Given the description of an element on the screen output the (x, y) to click on. 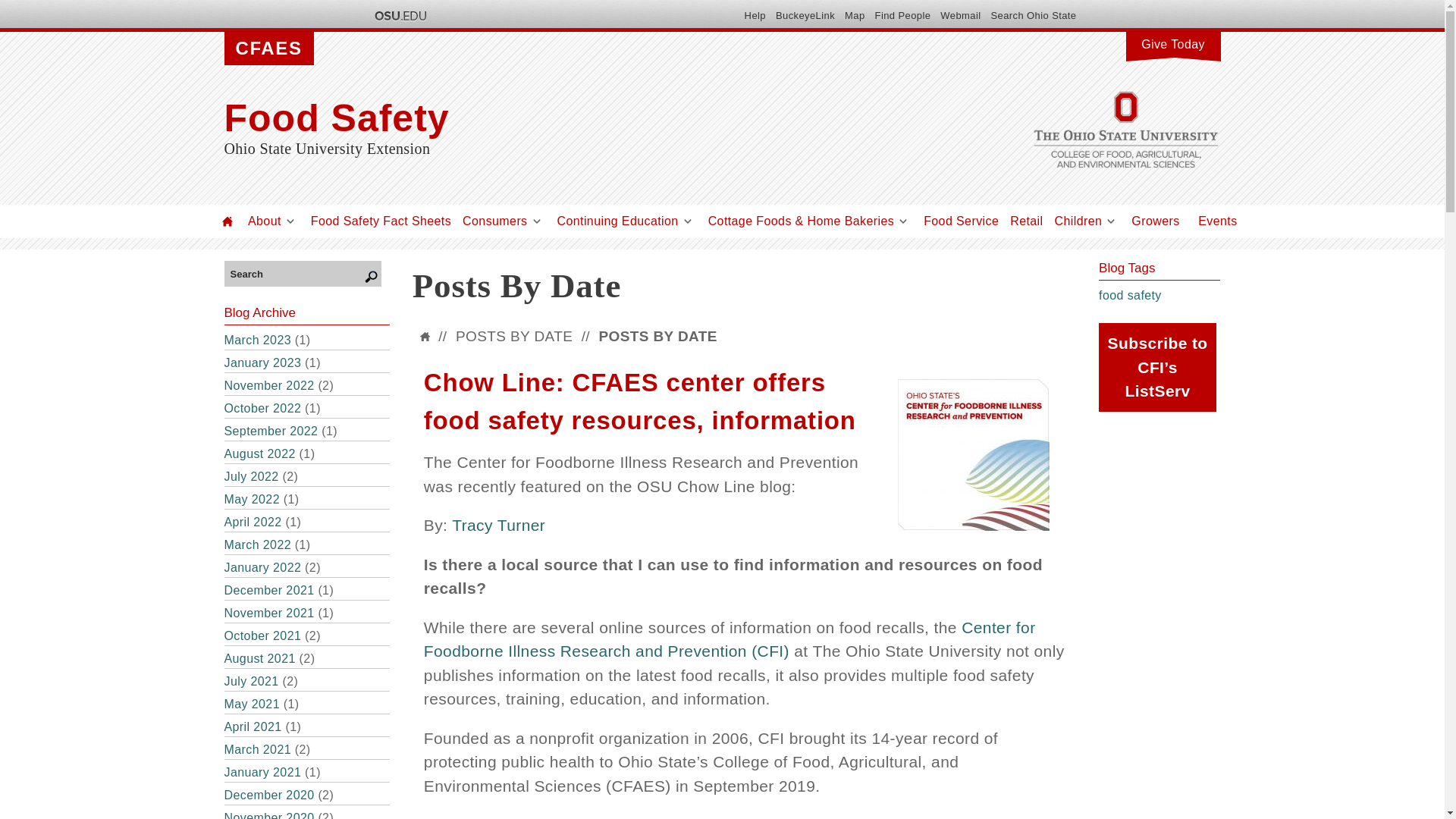
The Ohio State University (399, 15)
Search (298, 273)
Find People (903, 15)
About (264, 221)
Search Ohio State (1032, 15)
CFAES (269, 48)
Enter the terms you wish to search for. (298, 273)
Map (854, 15)
Continuing Education (617, 221)
Center for Foodborne Illness Research and Prevention logo (973, 454)
Skip to main content (686, 1)
Food Safety (572, 118)
Children (1078, 221)
Home (572, 118)
Home (226, 221)
